Given the description of an element on the screen output the (x, y) to click on. 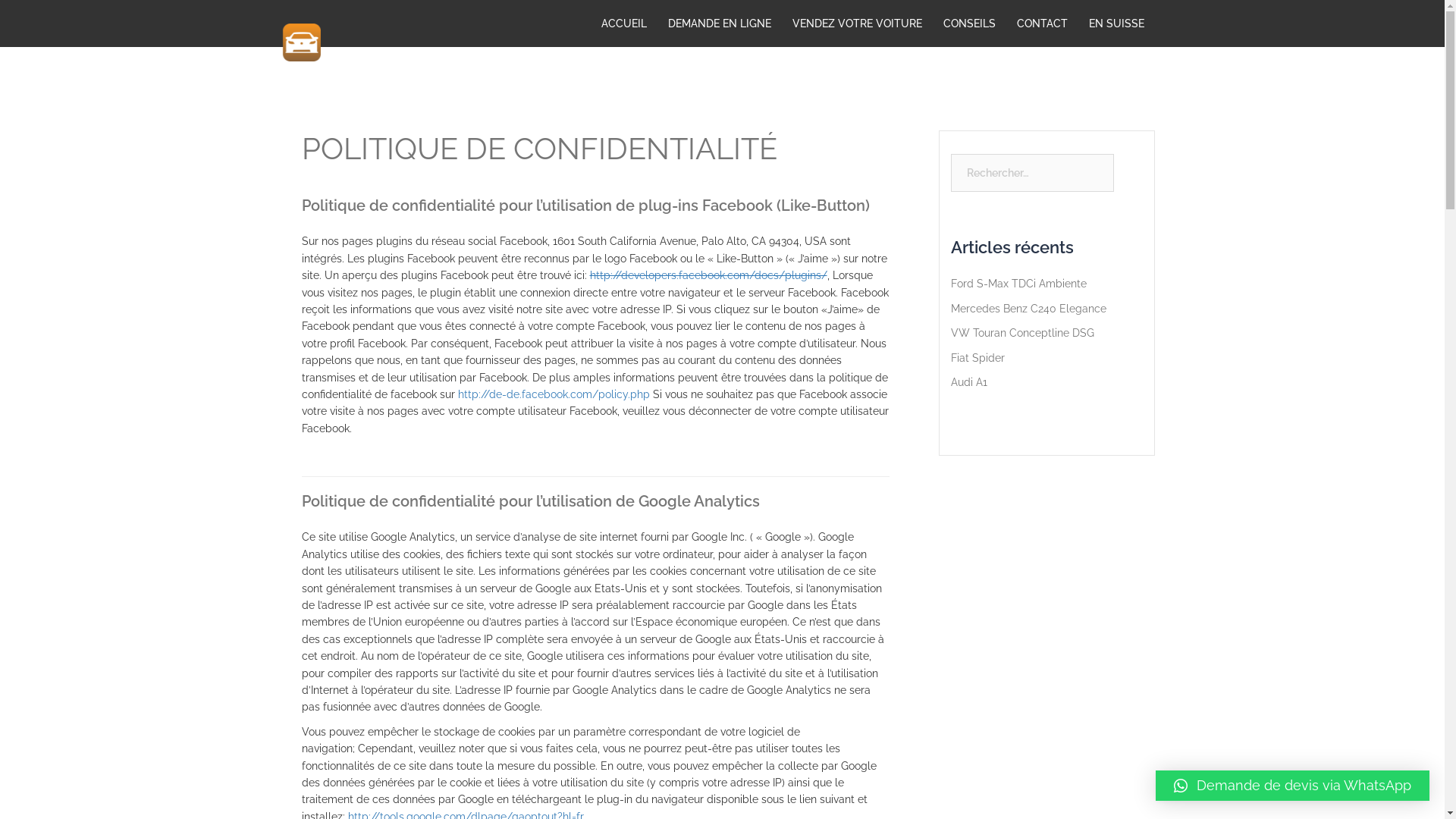
CONTACT Element type: text (1041, 23)
ACCUEIL Element type: text (623, 23)
http://de-de.facebook.com/policy.php Element type: text (553, 394)
Mercedes Benz C240 Elegance Element type: text (1028, 308)
DEMANDE EN LIGNE Element type: text (718, 23)
Ford S-Max TDCi Ambiente Element type: text (1018, 283)
http://developers.facebook.com/docs/plugins/ Element type: text (708, 275)
Demande de devis via WhatsApp Element type: text (1292, 785)
VENDEZ VOTRE VOITURE Element type: text (856, 23)
Rechercher Element type: text (60, 18)
EN SUISSE Element type: text (1116, 23)
CONSEILS Element type: text (969, 23)
Audi A1 Element type: text (968, 382)
VW Touran Conceptline DSG Element type: text (1022, 332)
Fiat Spider Element type: text (977, 357)
